Given the description of an element on the screen output the (x, y) to click on. 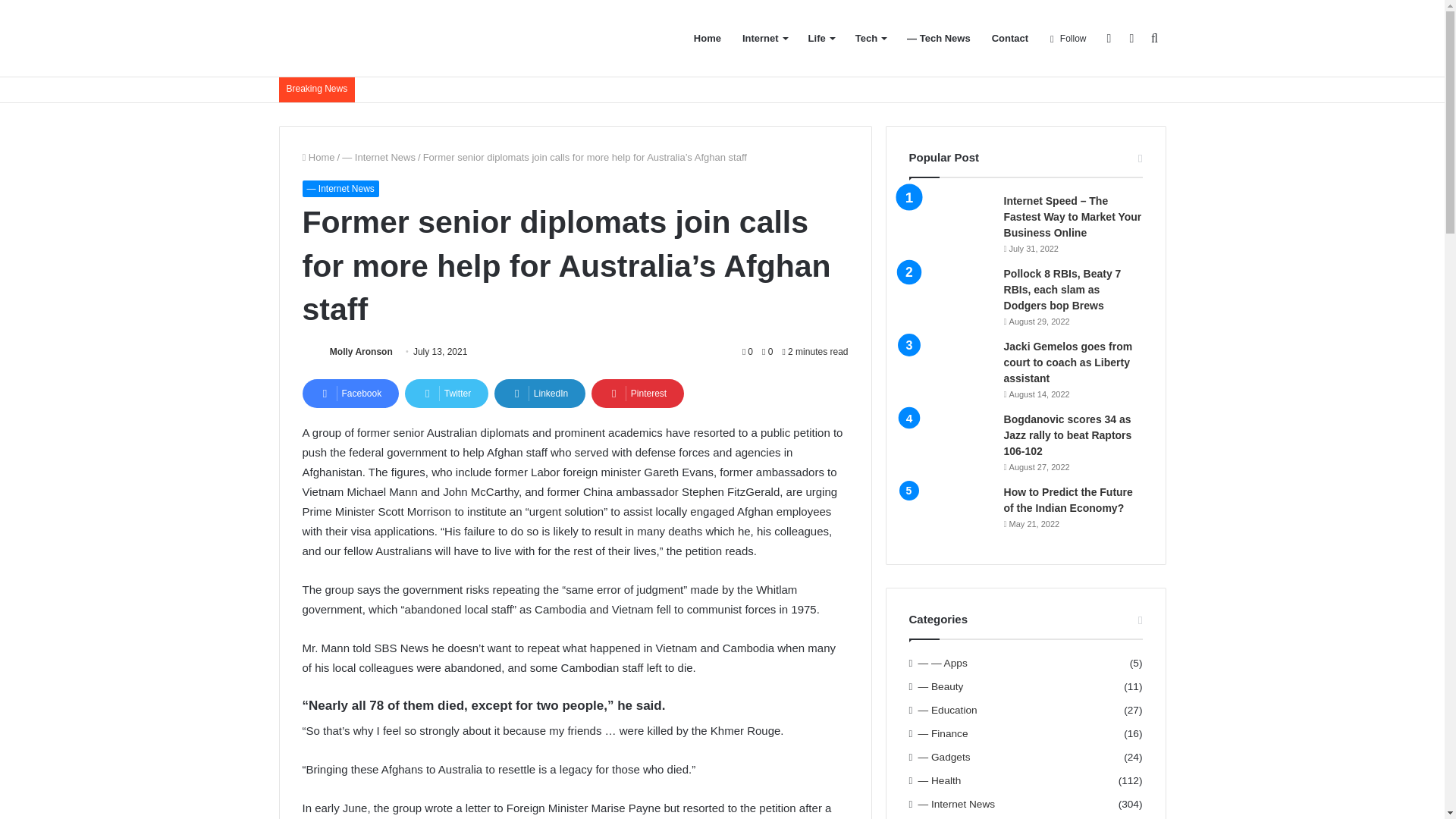
Home (317, 156)
Pinterest (637, 393)
Facebook (349, 393)
LinkedIn (540, 393)
Mehlogy Blog (362, 38)
Twitter (445, 393)
Molly Aronson (361, 351)
